Given the description of an element on the screen output the (x, y) to click on. 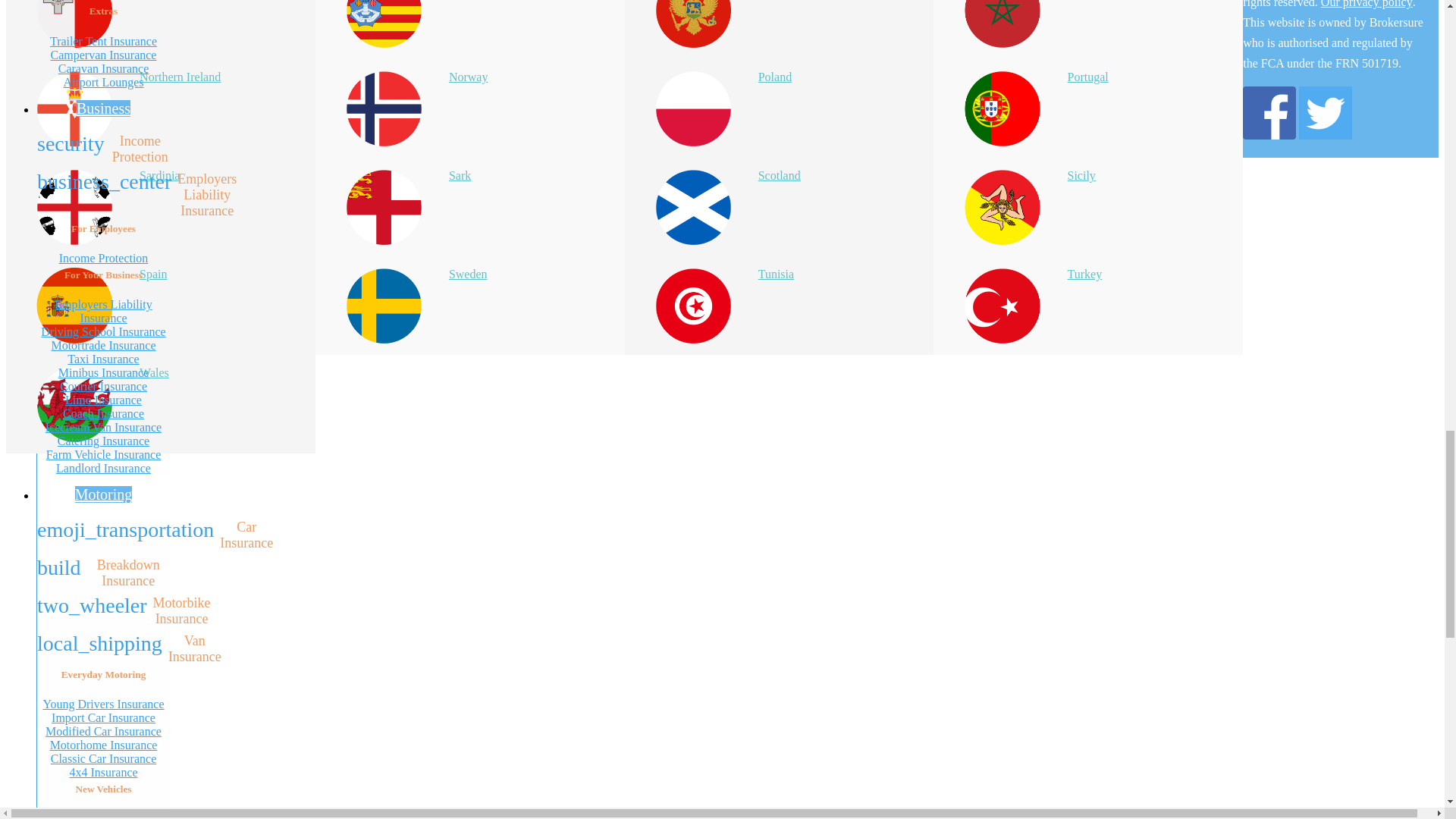
privacy policy (1366, 6)
